Given the description of an element on the screen output the (x, y) to click on. 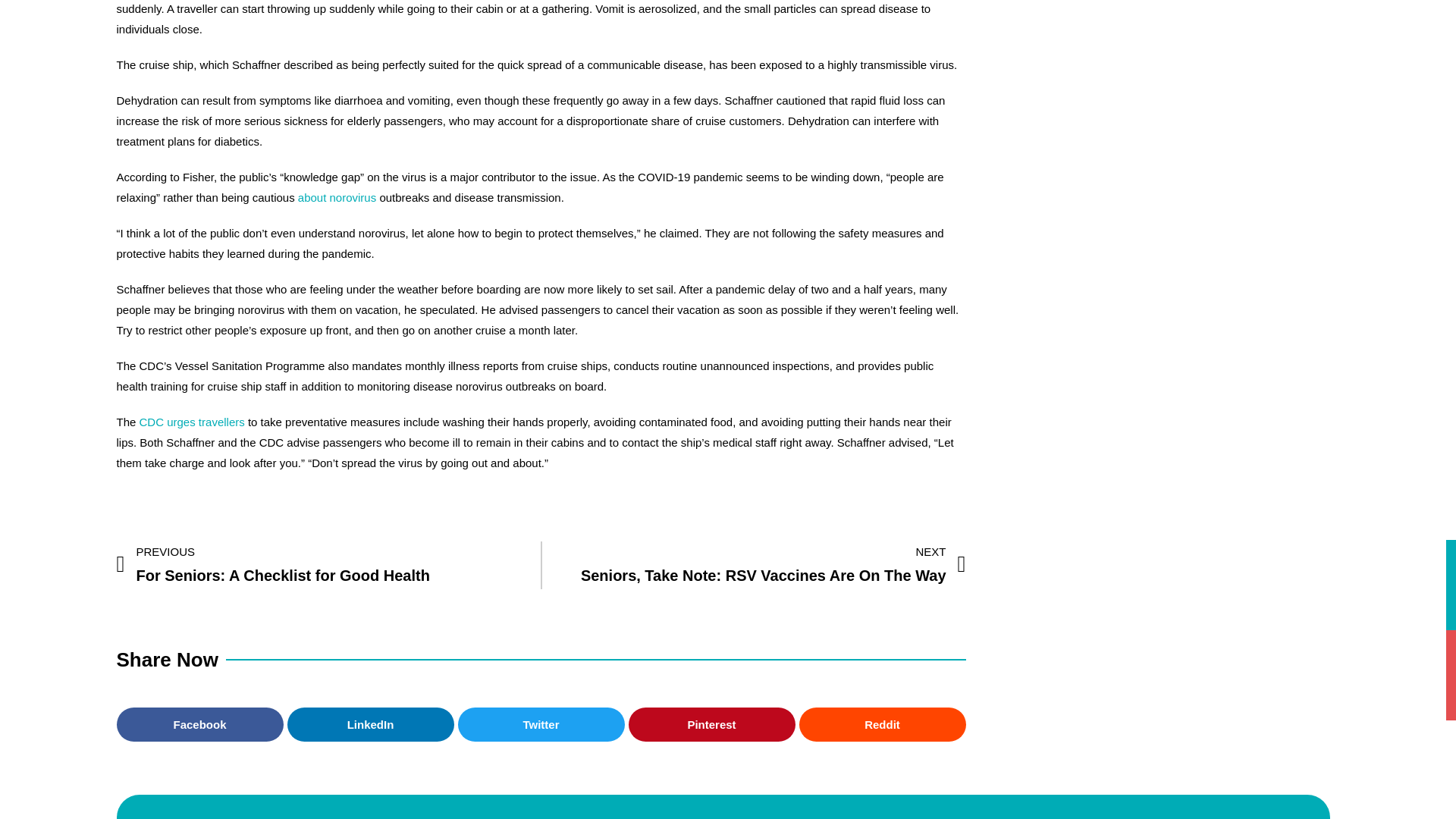
about norovirus (336, 196)
CDC urges travellers (328, 564)
